Given the description of an element on the screen output the (x, y) to click on. 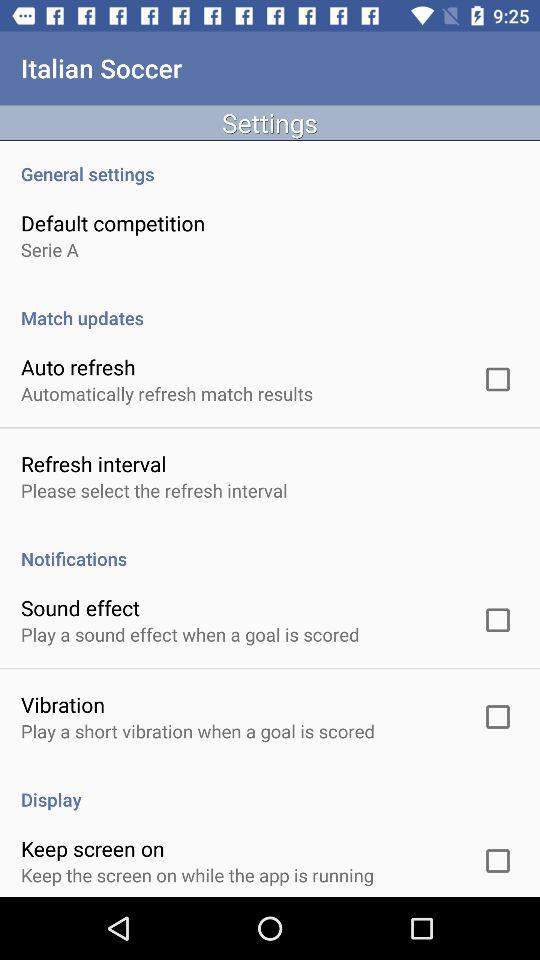
scroll to general settings (270, 163)
